Given the description of an element on the screen output the (x, y) to click on. 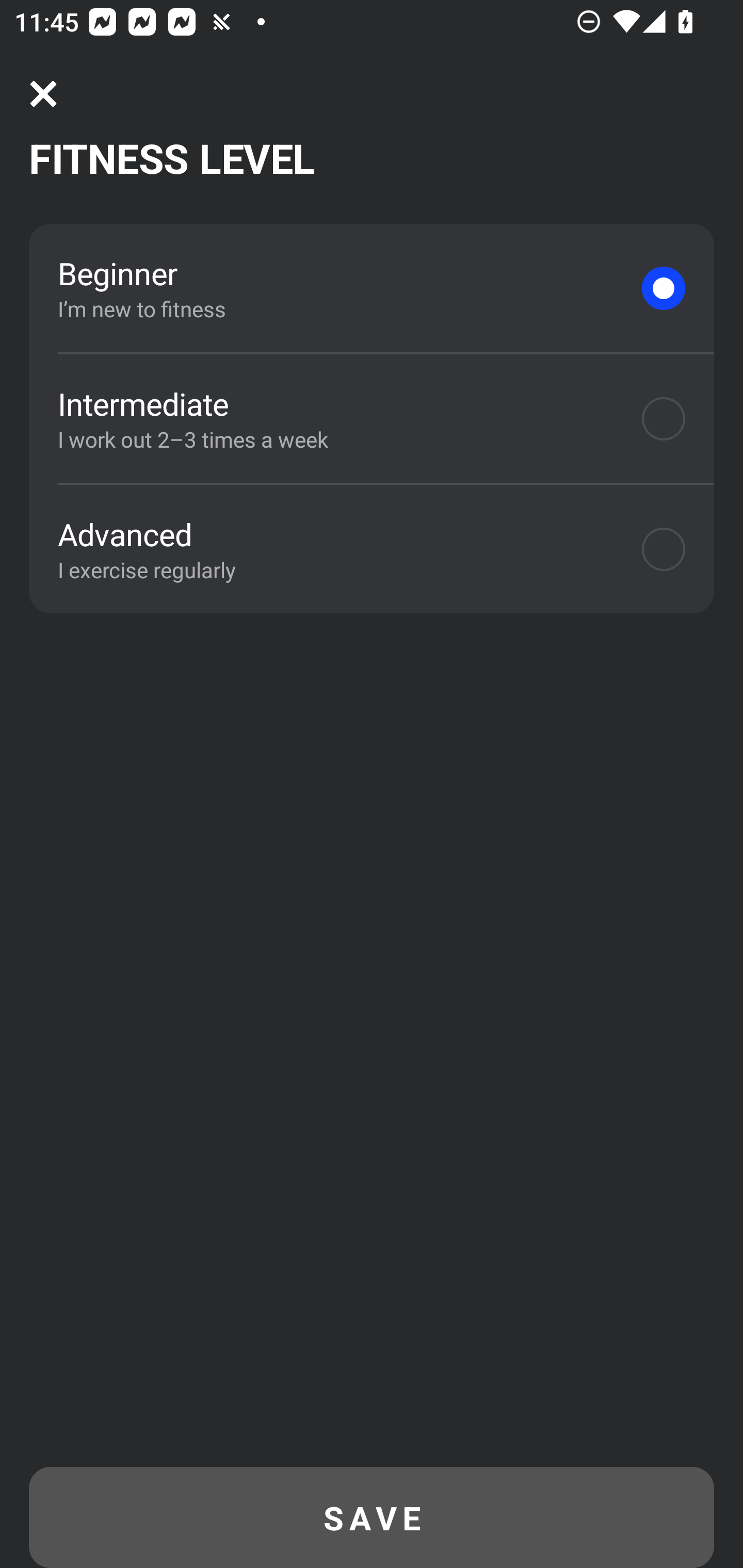
Navigation icon (43, 93)
SAVE (371, 1517)
